Given the description of an element on the screen output the (x, y) to click on. 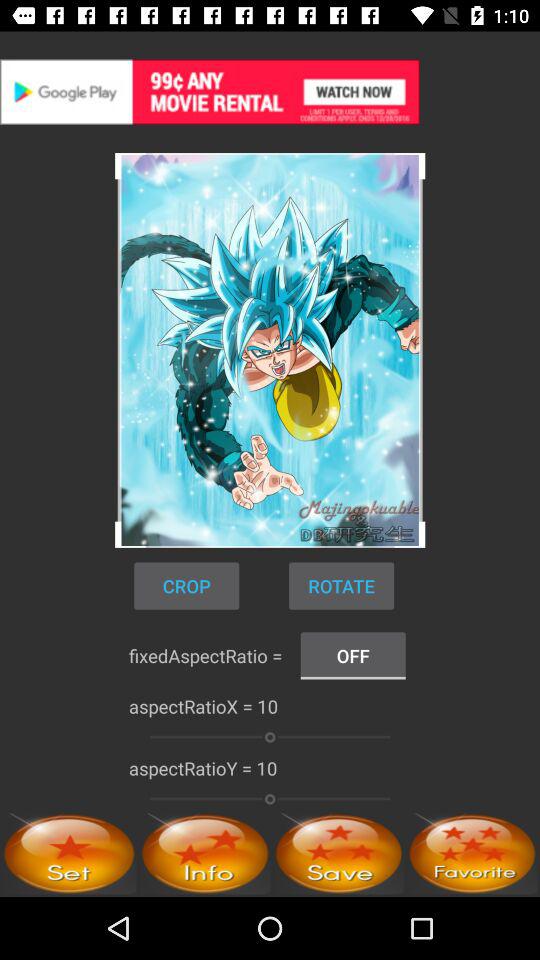
save option (338, 853)
